Given the description of an element on the screen output the (x, y) to click on. 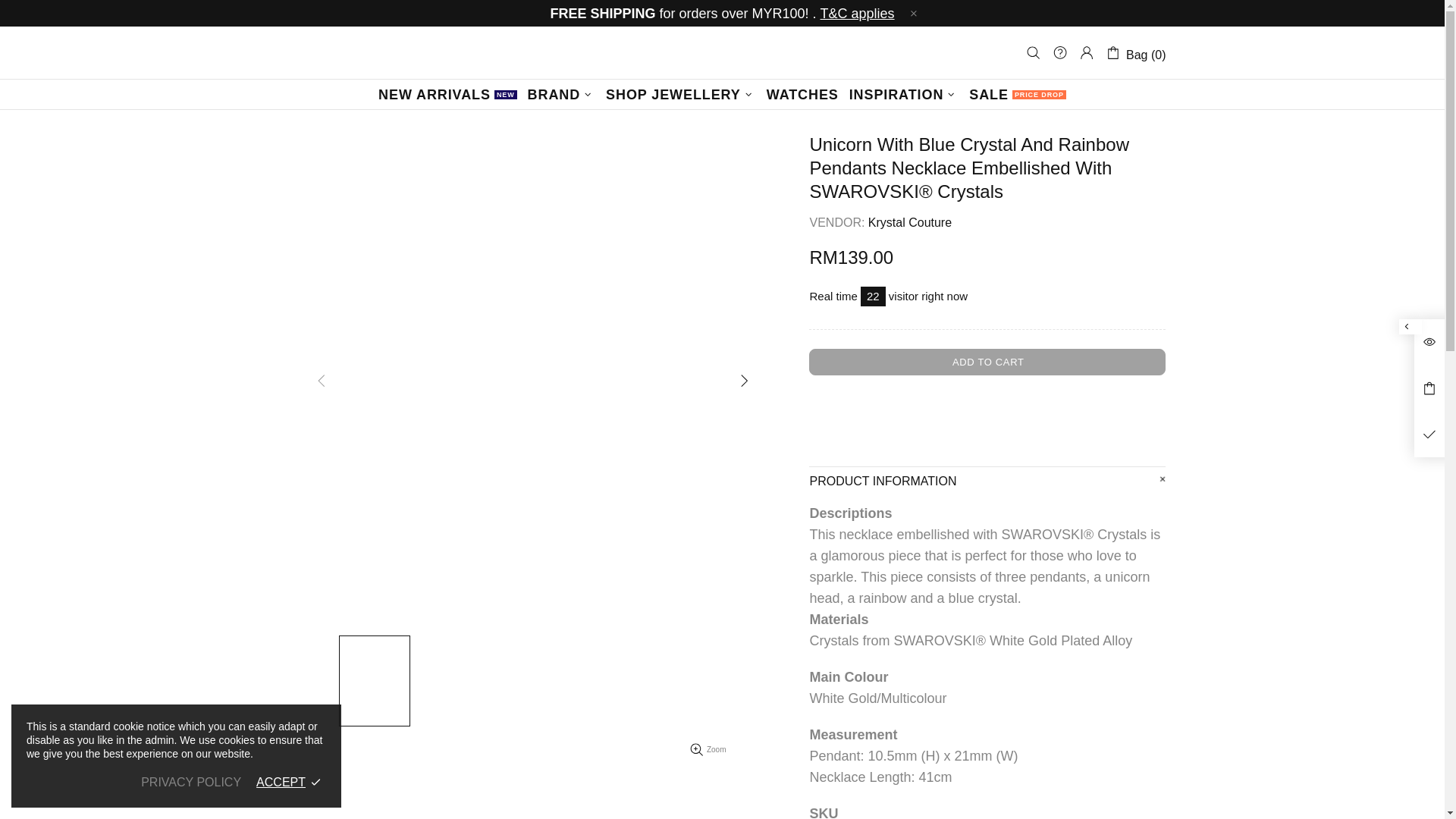
Krystal Couture (909, 222)
BRAND (561, 94)
Brilliant Co Asia (721, 53)
ADD TO CART (987, 361)
WATCHES (447, 94)
SHOP JEWELLERY (1017, 94)
INSPIRATION (802, 94)
